Given the description of an element on the screen output the (x, y) to click on. 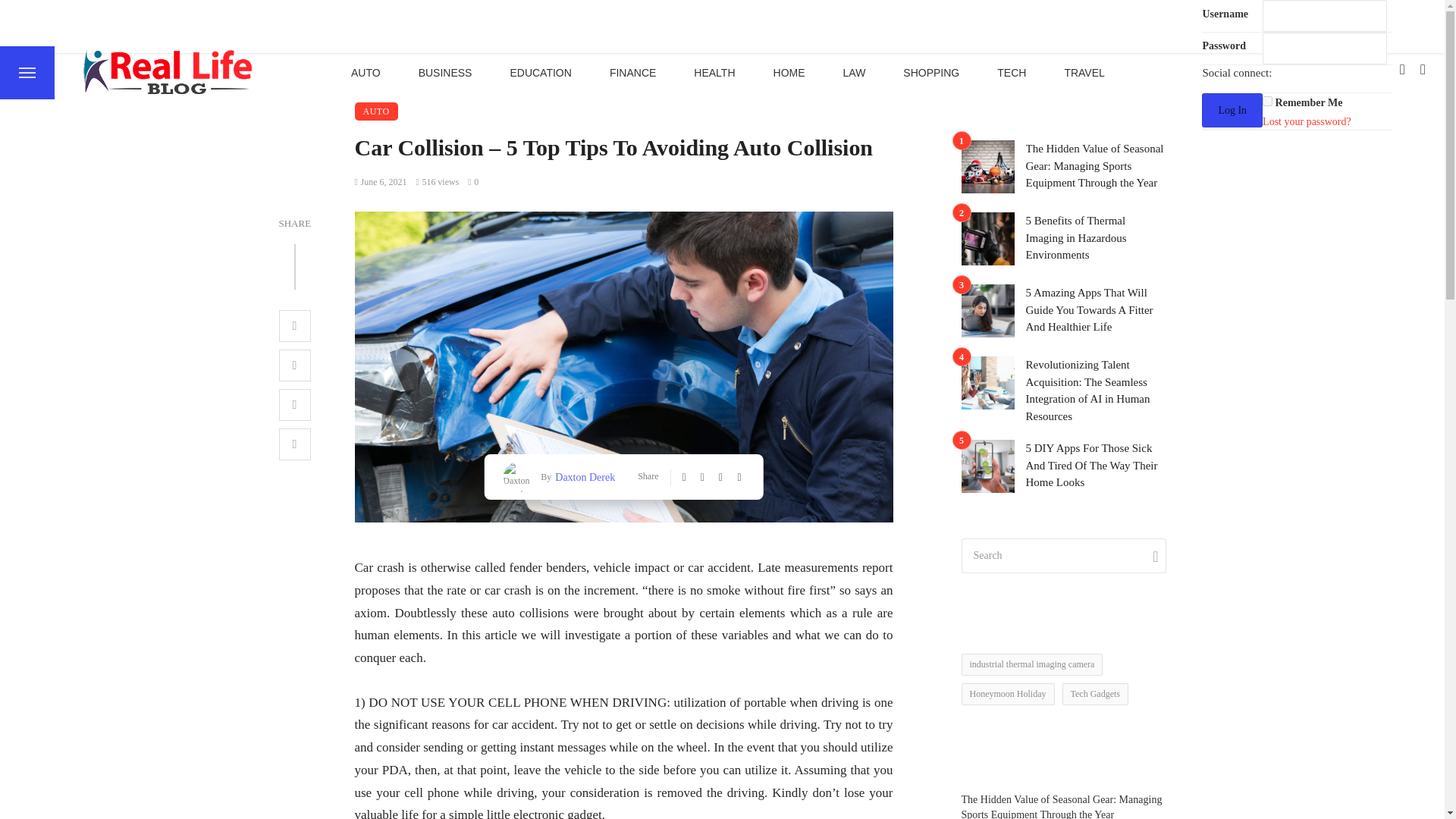
FINANCE (633, 72)
Share on Pinterest (295, 404)
AUTO (364, 72)
Daxton Derek (582, 476)
Log In (1232, 110)
Lost your password? (1306, 121)
TRAVEL (1083, 72)
Log In (1232, 110)
Password Lost and Found (1306, 121)
LAW (854, 72)
